Given the description of an element on the screen output the (x, y) to click on. 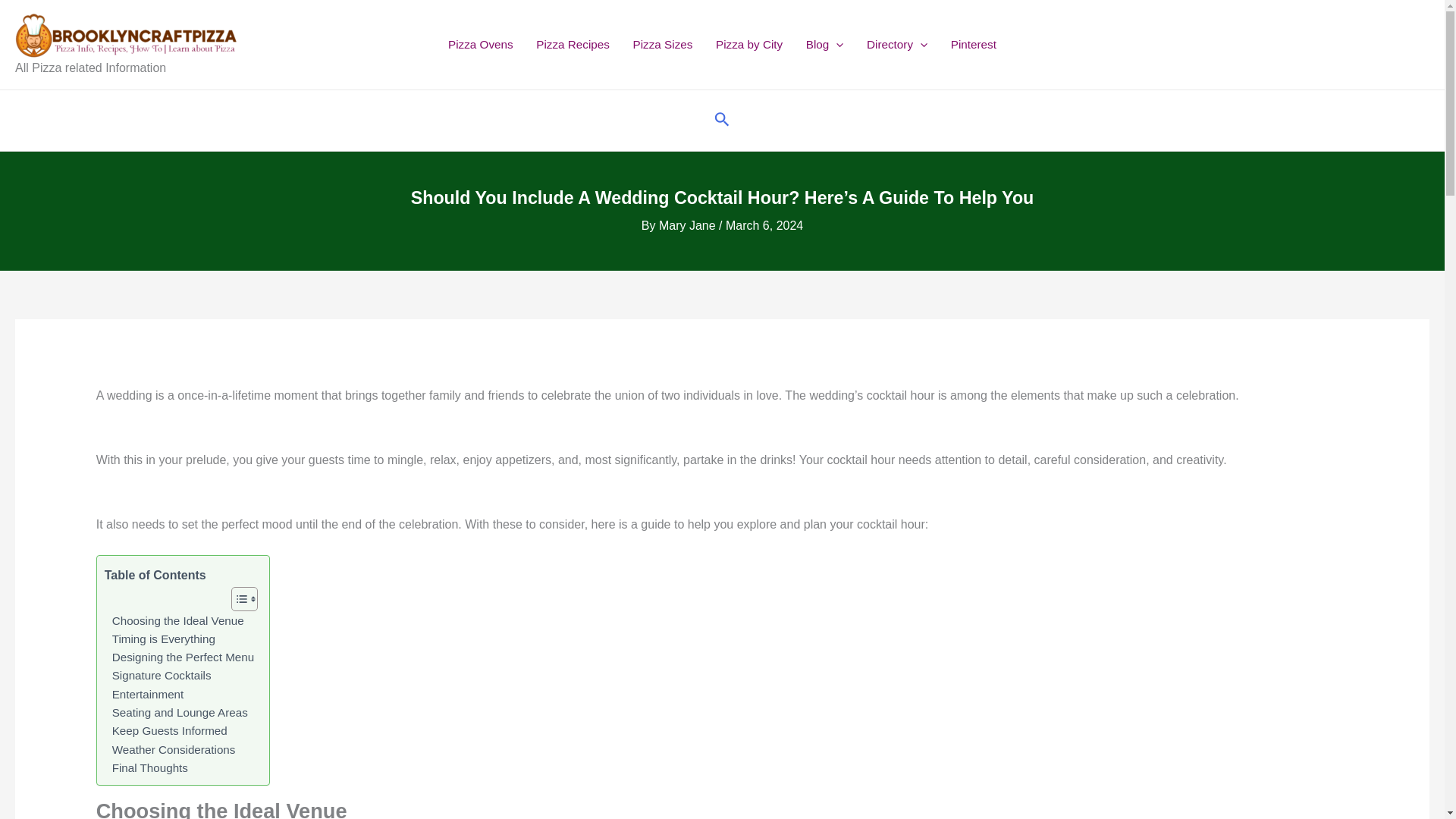
View all posts by Mary Jane (689, 225)
Signature Cocktails (157, 675)
Mary Jane (689, 225)
Choosing the Ideal Venue (174, 620)
Pizza by City (749, 44)
Weather Considerations (169, 750)
Final Thoughts (145, 768)
Seating and Lounge Areas (175, 712)
Designing the Perfect Menu (178, 657)
Pinterest (973, 44)
Blog (823, 44)
Directory (897, 44)
Pizza Recipes (572, 44)
Keep Guests Informed (165, 730)
Timing is Everything (159, 638)
